Given the description of an element on the screen output the (x, y) to click on. 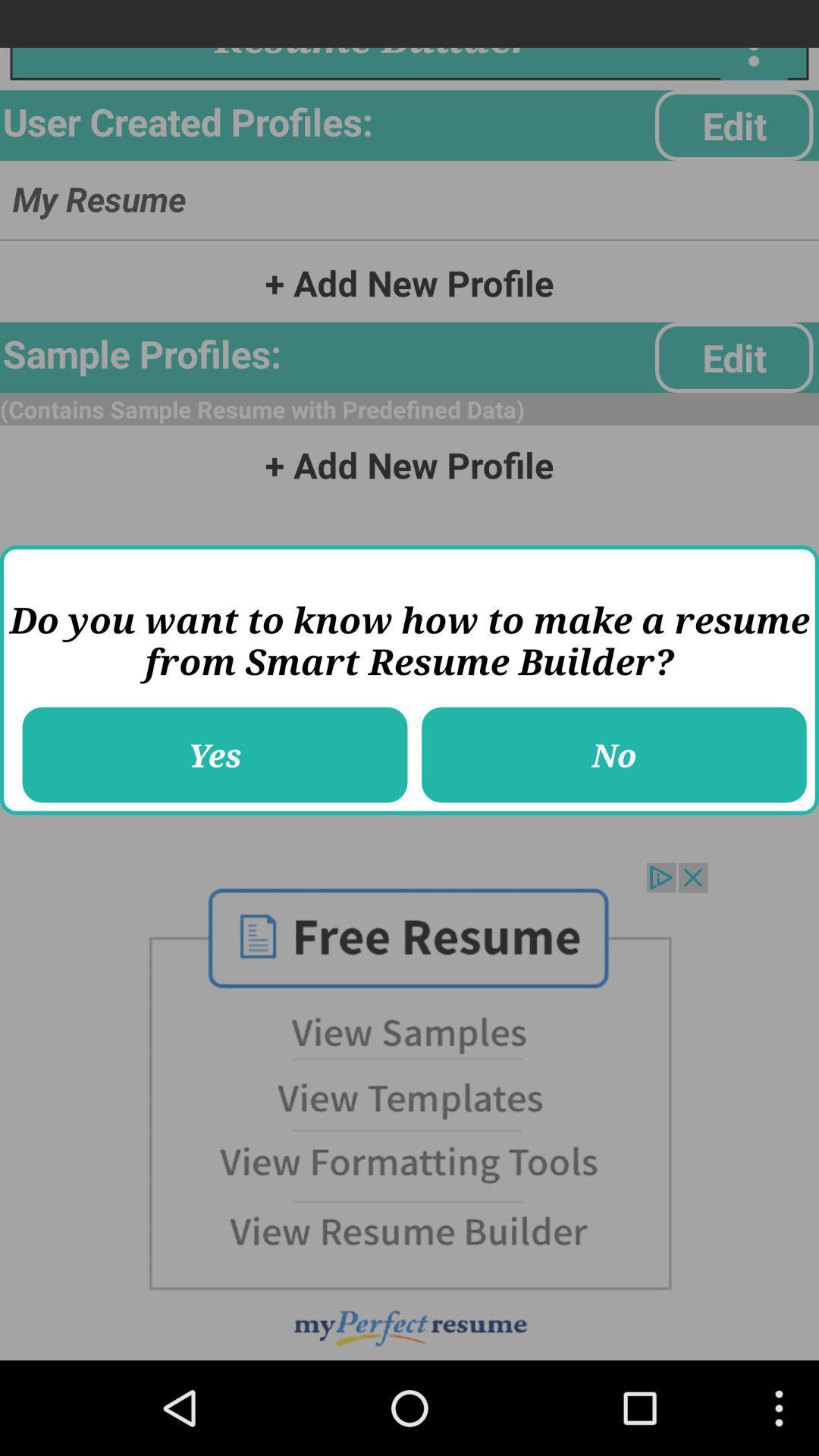
press button on the right (613, 754)
